Given the description of an element on the screen output the (x, y) to click on. 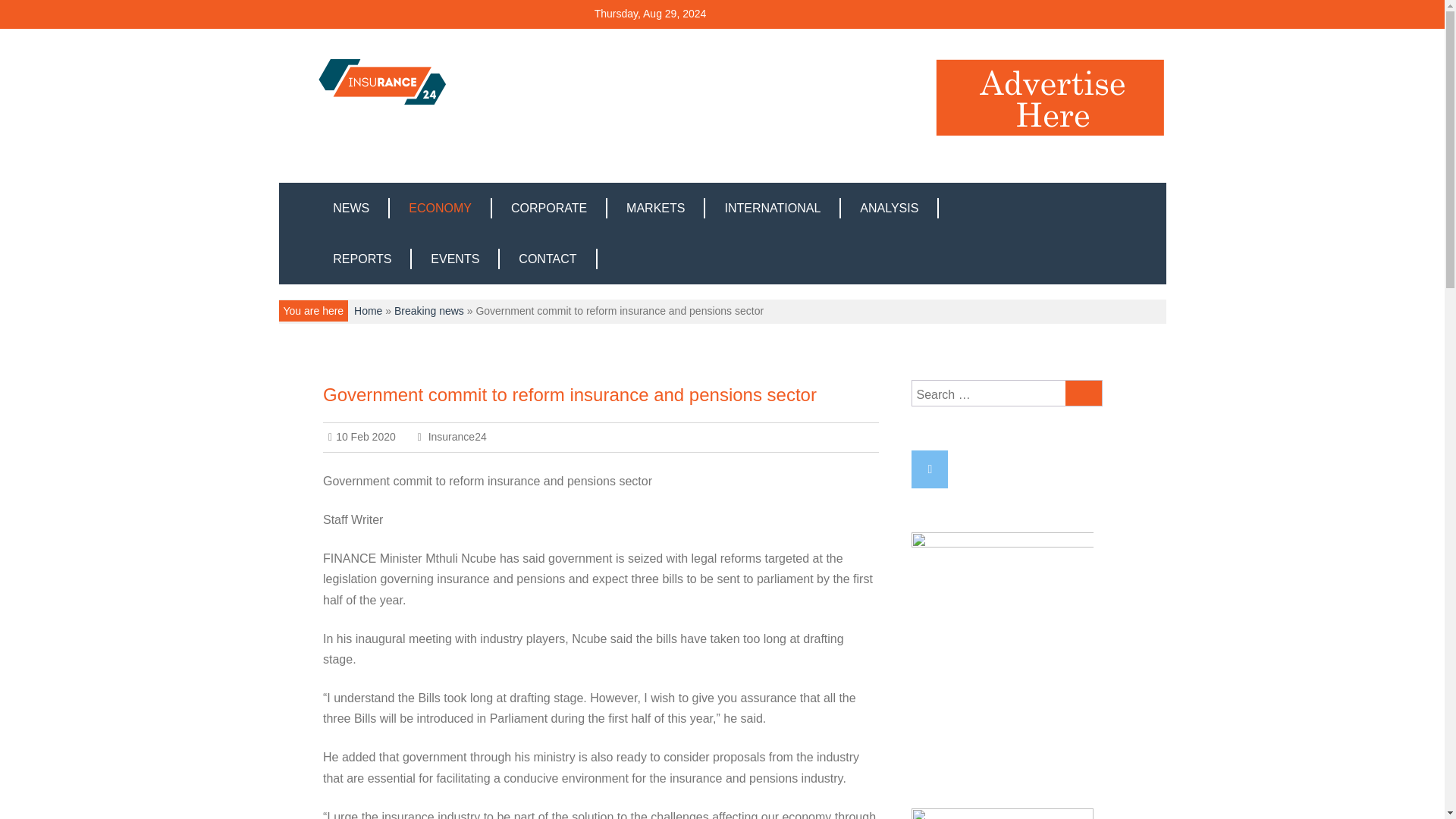
Government commit to reform insurance and pensions sector (569, 394)
INTERNATIONAL (772, 208)
10 Feb 2020 (362, 436)
Breaking news (429, 310)
EVENTS (455, 258)
CONTACT (547, 258)
CORPORATE (549, 208)
Search (1083, 392)
Search (1083, 392)
Home (367, 310)
